Given the description of an element on the screen output the (x, y) to click on. 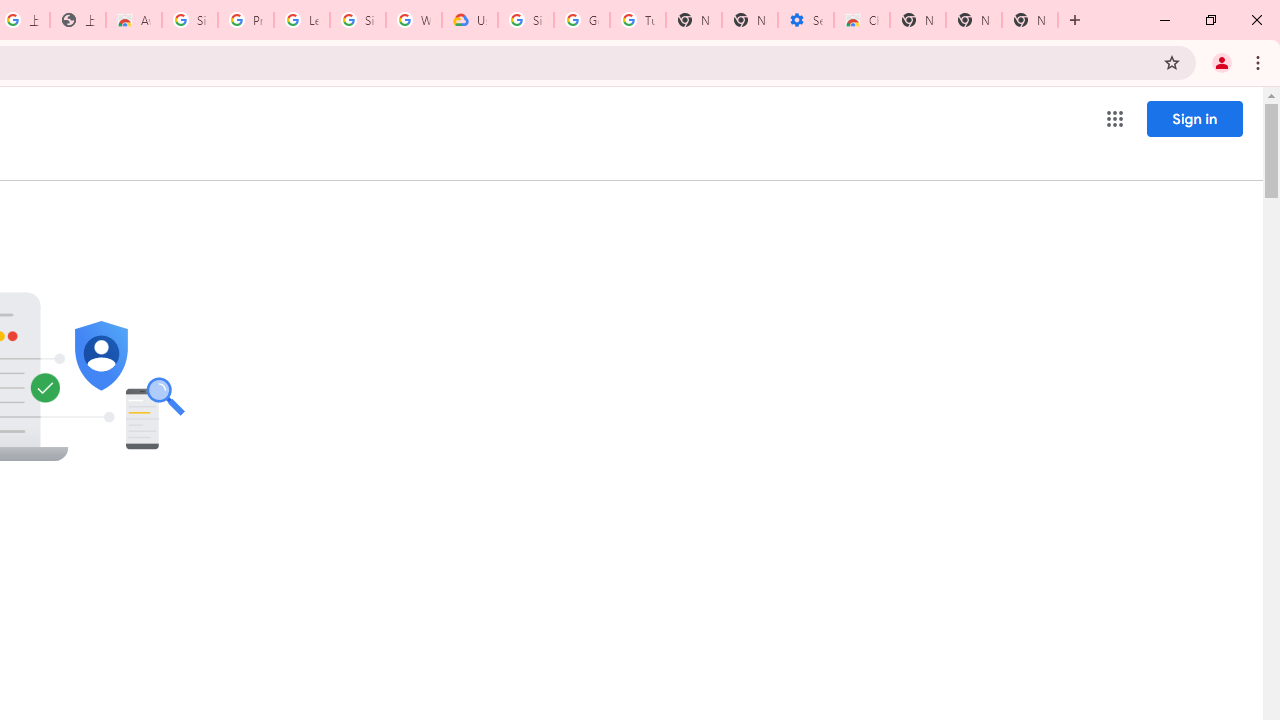
Settings - Accessibility (806, 20)
Google Account Help (582, 20)
Turn cookies on or off - Computer - Google Account Help (637, 20)
Sign in - Google Accounts (358, 20)
